Given the description of an element on the screen output the (x, y) to click on. 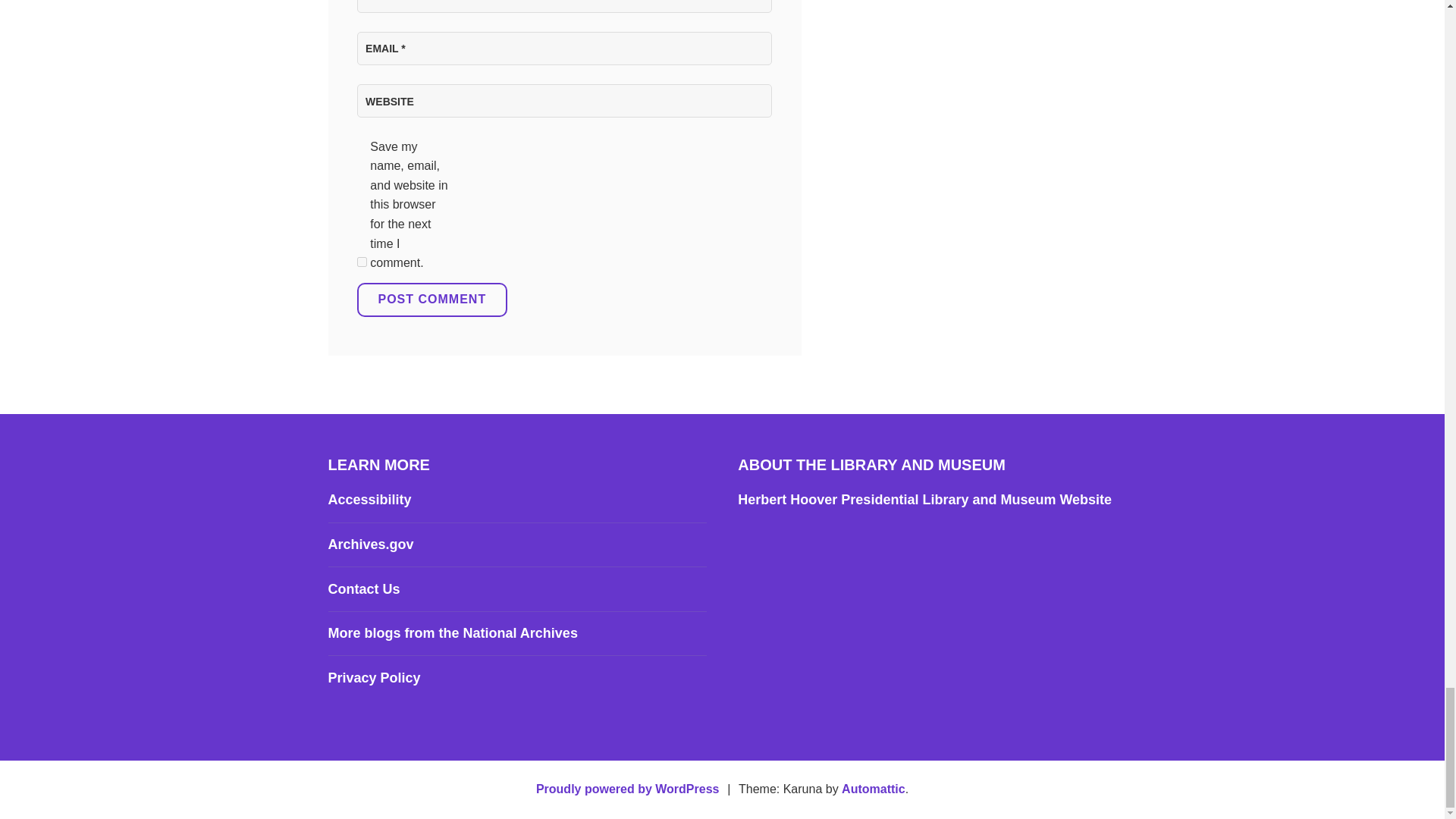
Post Comment (431, 299)
Accessibility information on archives.gov (368, 499)
National Archives privacy policy (373, 677)
yes (361, 261)
Contact information (362, 588)
Post Comment (431, 299)
U.S. National Archives Blogroll (451, 632)
